Given the description of an element on the screen output the (x, y) to click on. 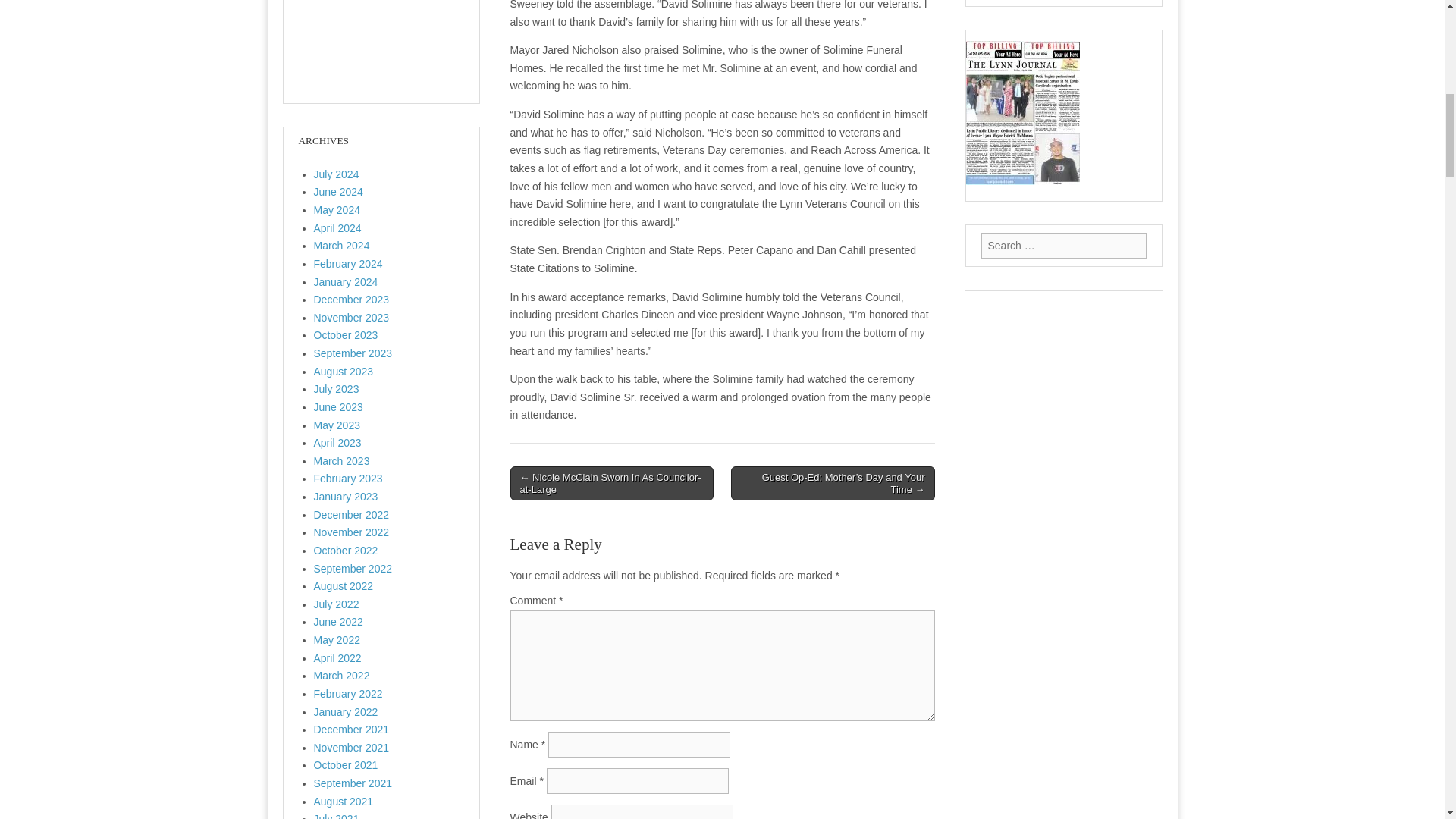
July 2024 (336, 174)
May 2024 (336, 209)
December 2023 (352, 299)
April 2024 (337, 227)
March 2024 (341, 245)
January 2024 (346, 282)
June 2024 (338, 191)
February 2024 (348, 263)
